Given the description of an element on the screen output the (x, y) to click on. 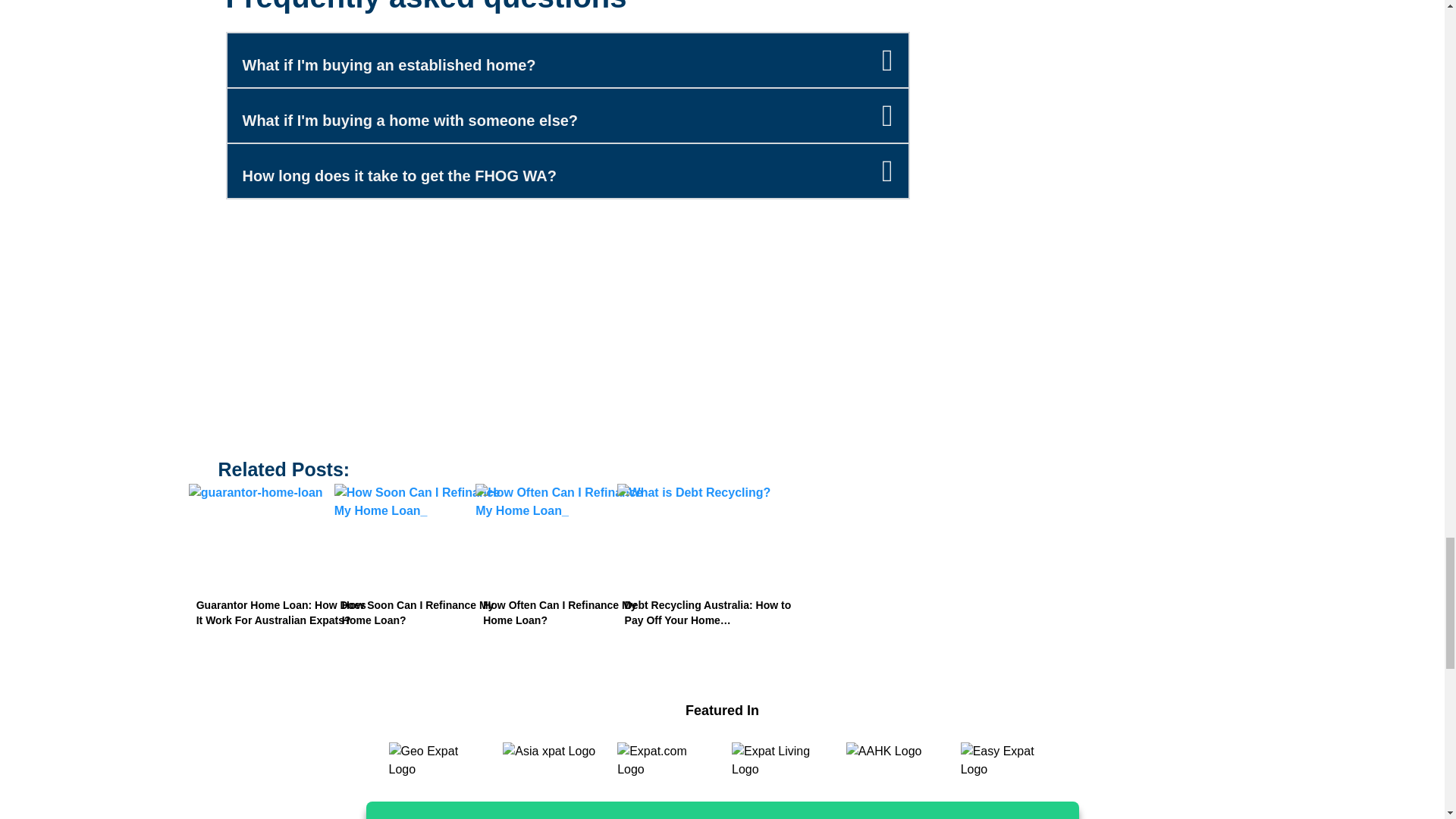
Guarantor Home Loan: How Does It Work For Australian Expats? (285, 531)
How Soon Can I Refinance My Home Loan? (426, 531)
How Often Can I Refinance My Home Loan? (567, 531)
